Given the description of an element on the screen output the (x, y) to click on. 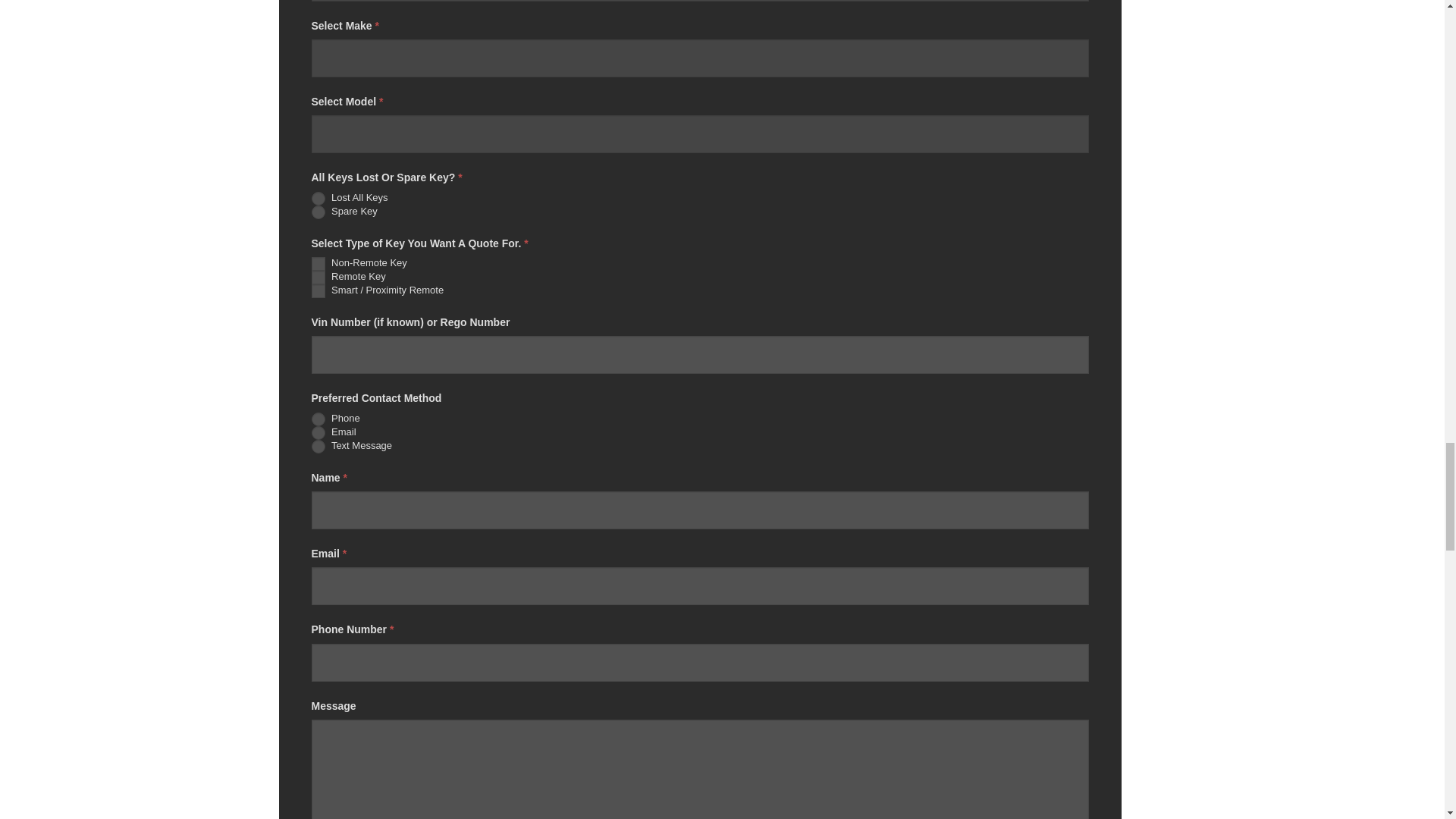
Phone (317, 418)
Spare Key (317, 212)
Lost All Keys (317, 198)
Email (317, 432)
Text Message (317, 446)
Non-Remote Key (317, 264)
Remote Key (317, 277)
